Given the description of an element on the screen output the (x, y) to click on. 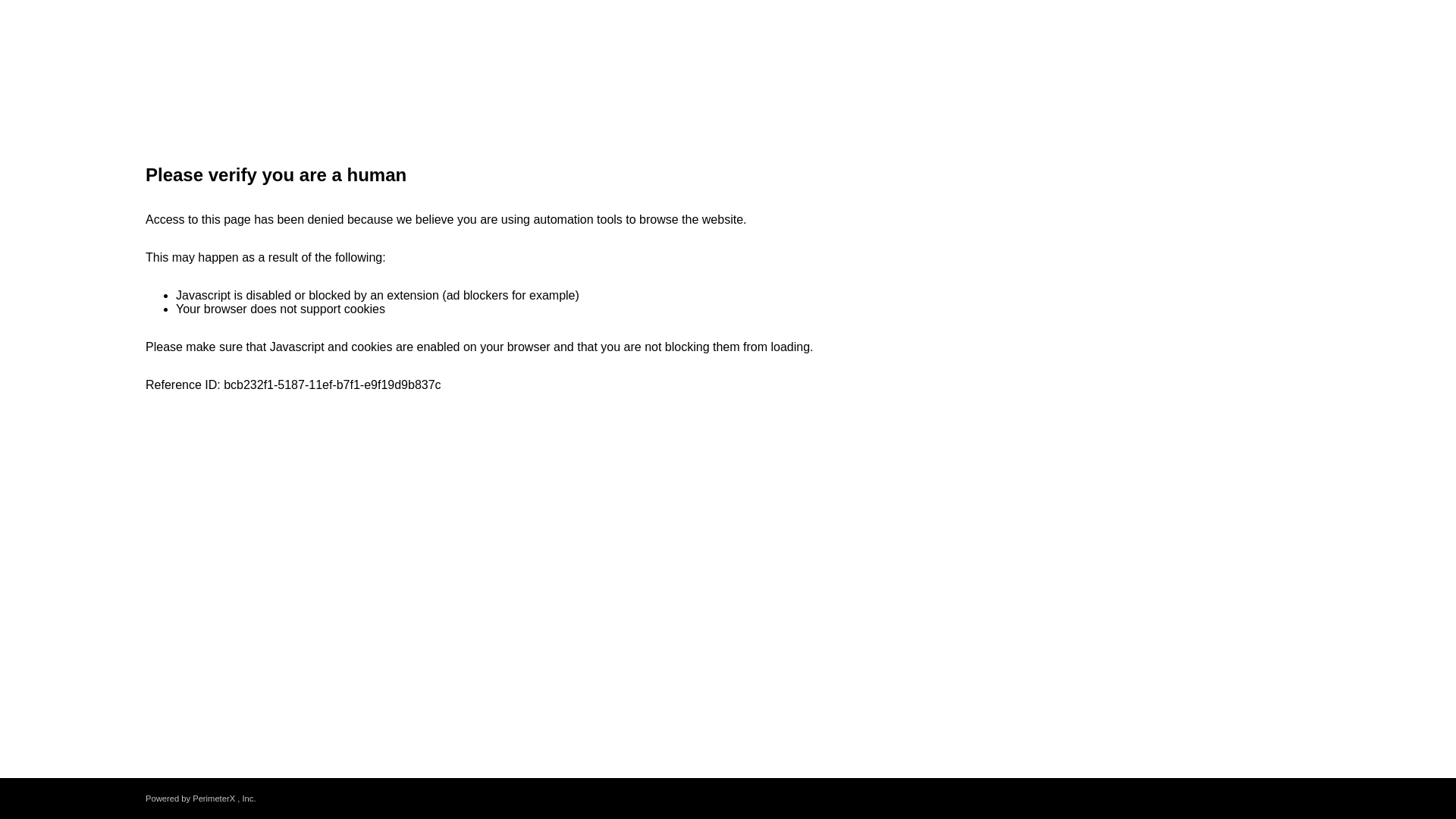
PerimeterX (213, 798)
